Given the description of an element on the screen output the (x, y) to click on. 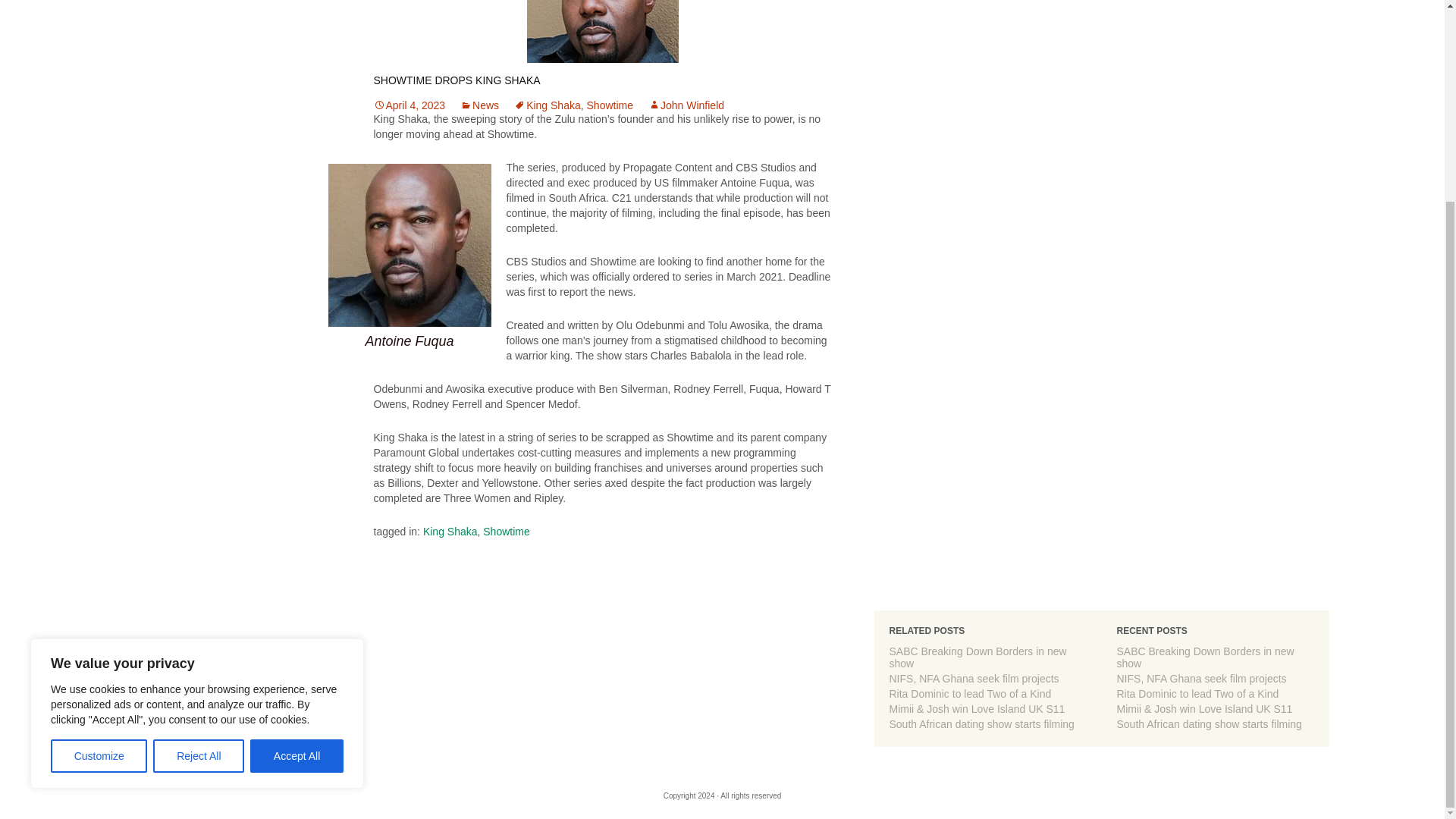
South African dating show starts filming (981, 724)
Permalink to Showtime drops King Shaka (408, 105)
Accept All (296, 498)
SABC Breaking Down Borders in new show (976, 657)
Showtime (506, 531)
SABC Breaking Down Borders in new show (1205, 657)
Reject All (198, 498)
John Winfield (685, 105)
King Shaka (450, 531)
King Shaka (546, 105)
Rita Dominic to lead Two of a Kind (969, 693)
Customize (98, 498)
News (479, 105)
NIFS, NFA Ghana seek film projects (973, 678)
SHOWTIME DROPS KING SHAKA (456, 80)
